Given the description of an element on the screen output the (x, y) to click on. 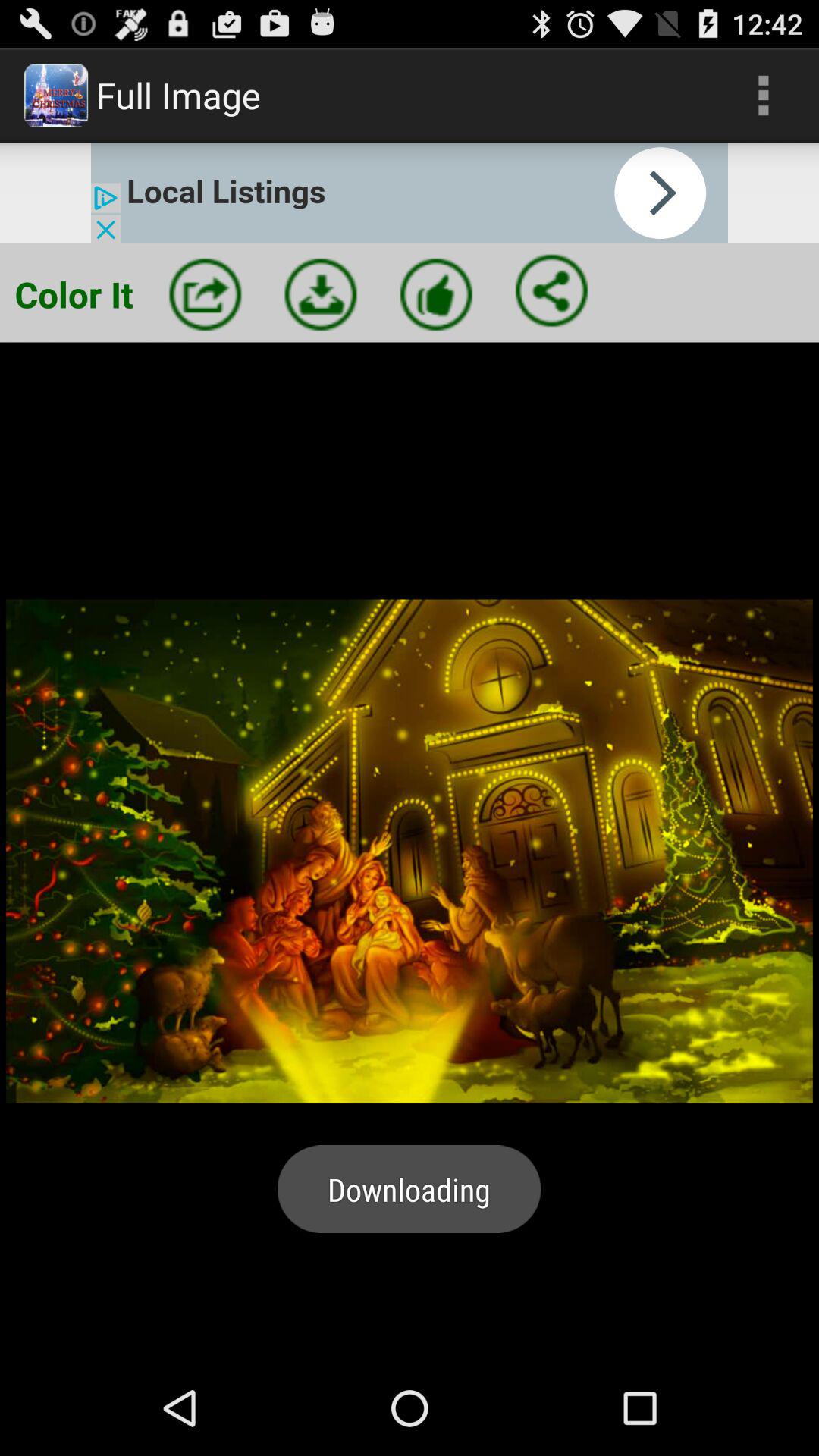
create new (205, 294)
